Given the description of an element on the screen output the (x, y) to click on. 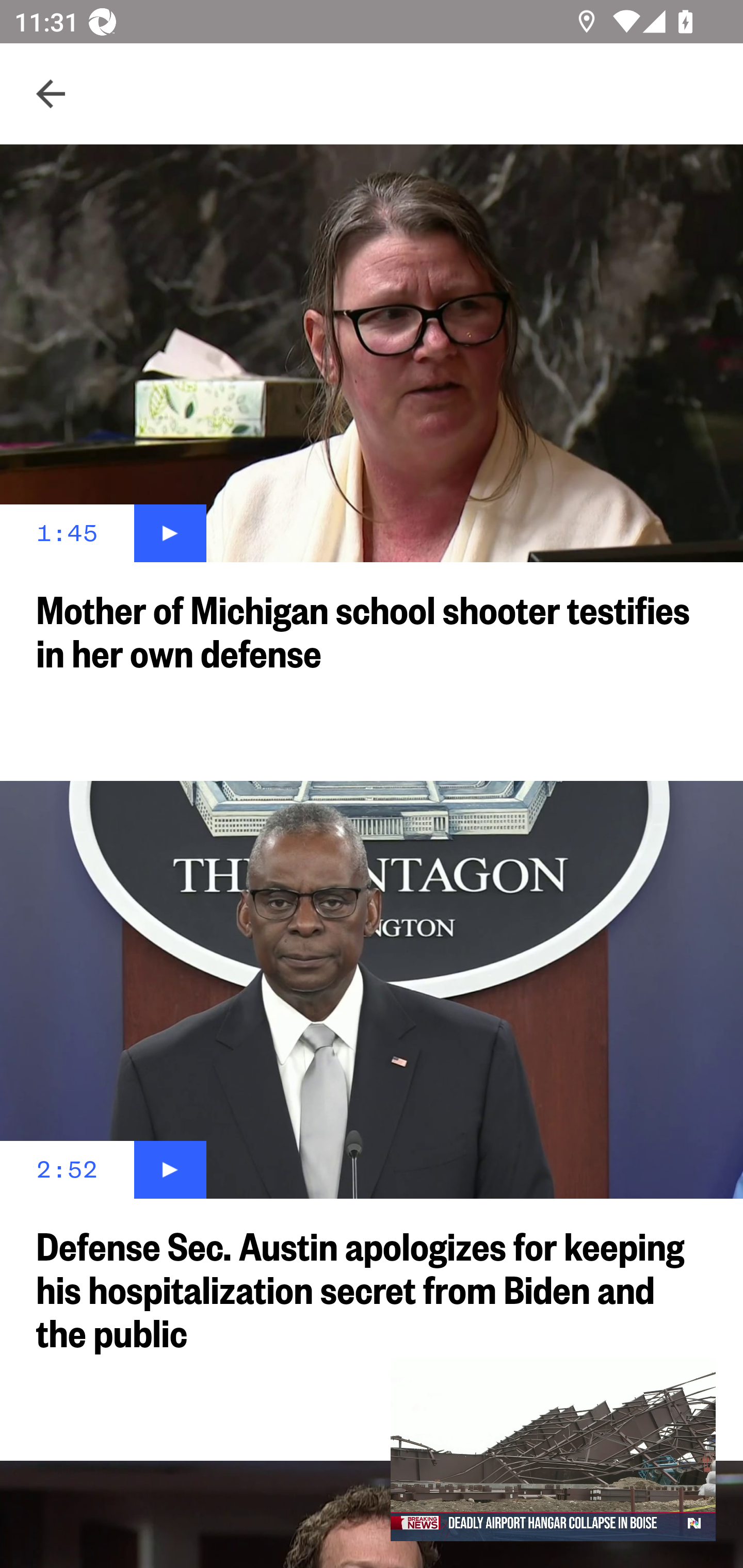
Navigate up (50, 93)
